Given the description of an element on the screen output the (x, y) to click on. 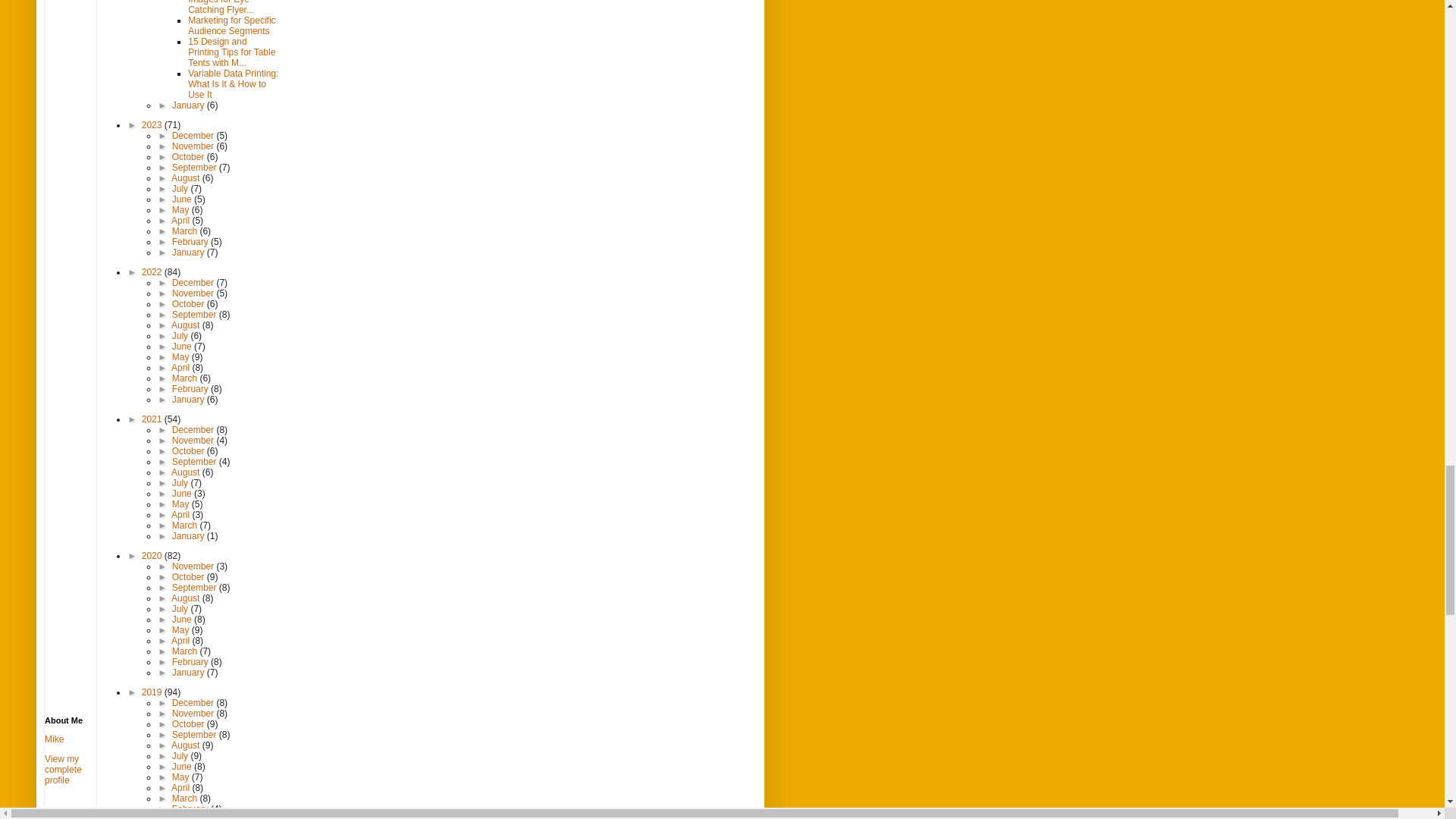
View my complete profile (63, 769)
Mike (54, 738)
